Given the description of an element on the screen output the (x, y) to click on. 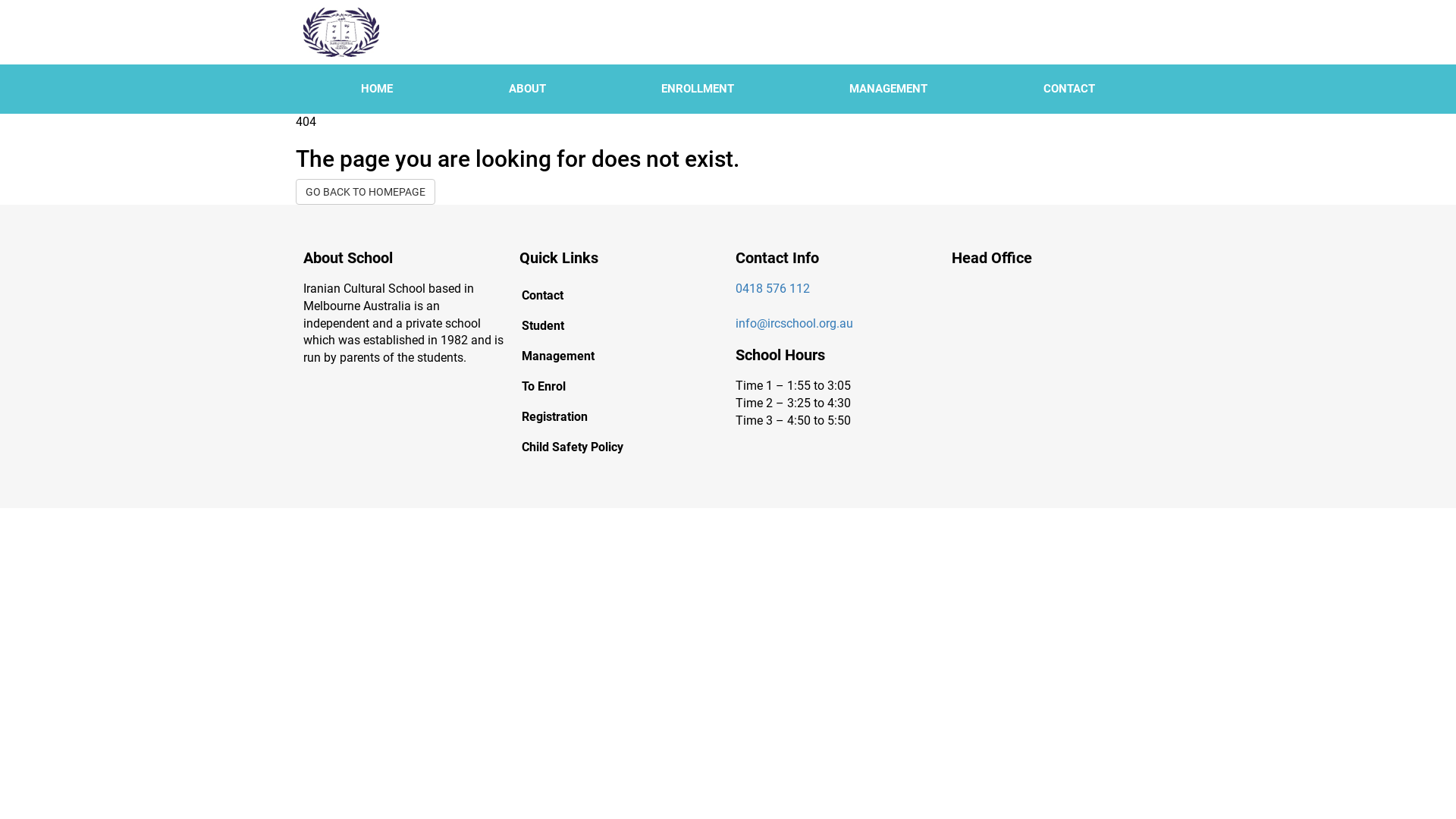
Child Safety Policy Element type: text (619, 447)
ENROLLMENT Element type: text (697, 89)
HOME Element type: text (376, 89)
0418 576 112 Element type: text (772, 288)
info@ircschool.org.au Element type: text (794, 323)
Registration Element type: text (619, 416)
MANAGEMENT Element type: text (888, 89)
irlogo Element type: hover (341, 31)
GO BACK TO HOMEPAGE Element type: text (365, 191)
Contact Element type: text (619, 295)
CONTACT Element type: text (1068, 89)
ABOUT Element type: text (526, 89)
To Enrol Element type: text (619, 386)
Student Element type: text (619, 325)
Management Element type: text (619, 356)
